Given the description of an element on the screen output the (x, y) to click on. 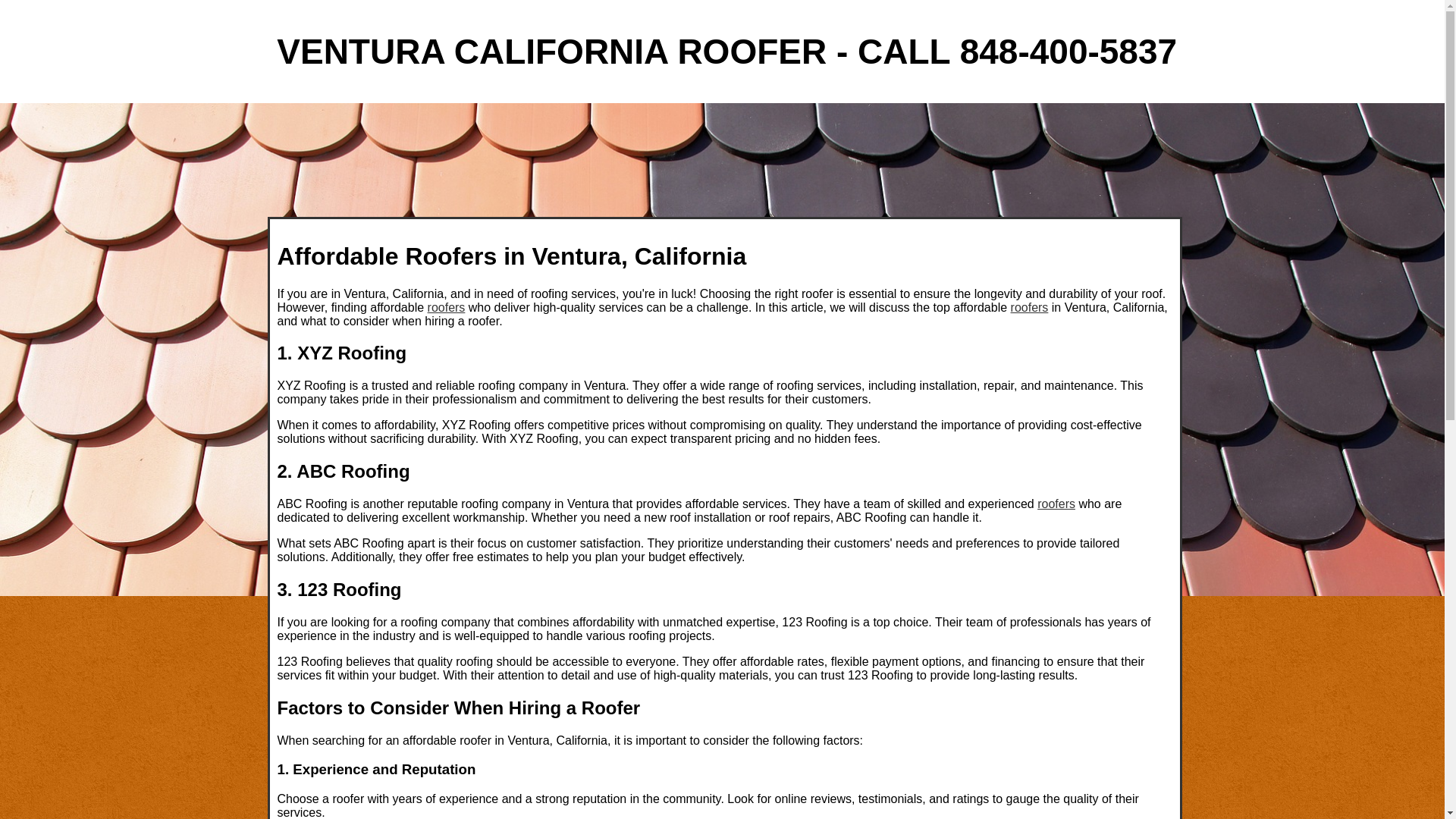
roofers (1055, 503)
roofers (446, 306)
roofers (1029, 306)
